Given the description of an element on the screen output the (x, y) to click on. 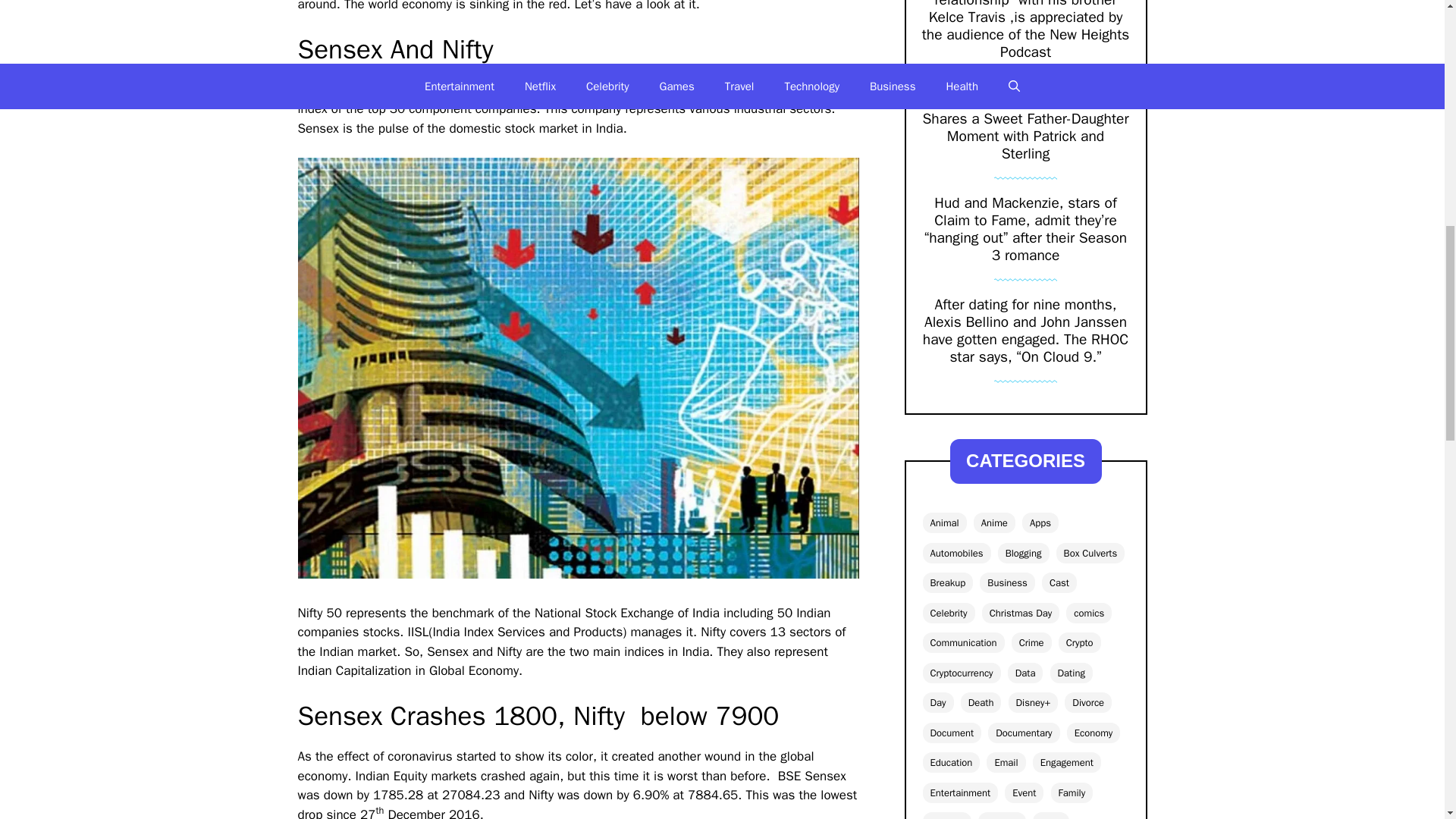
Blogging (1023, 552)
Automobiles (955, 552)
Apps (1040, 522)
Animal (943, 522)
Anime (994, 522)
Sensex and Nifty (630, 90)
Scroll back to top (1406, 720)
